Given the description of an element on the screen output the (x, y) to click on. 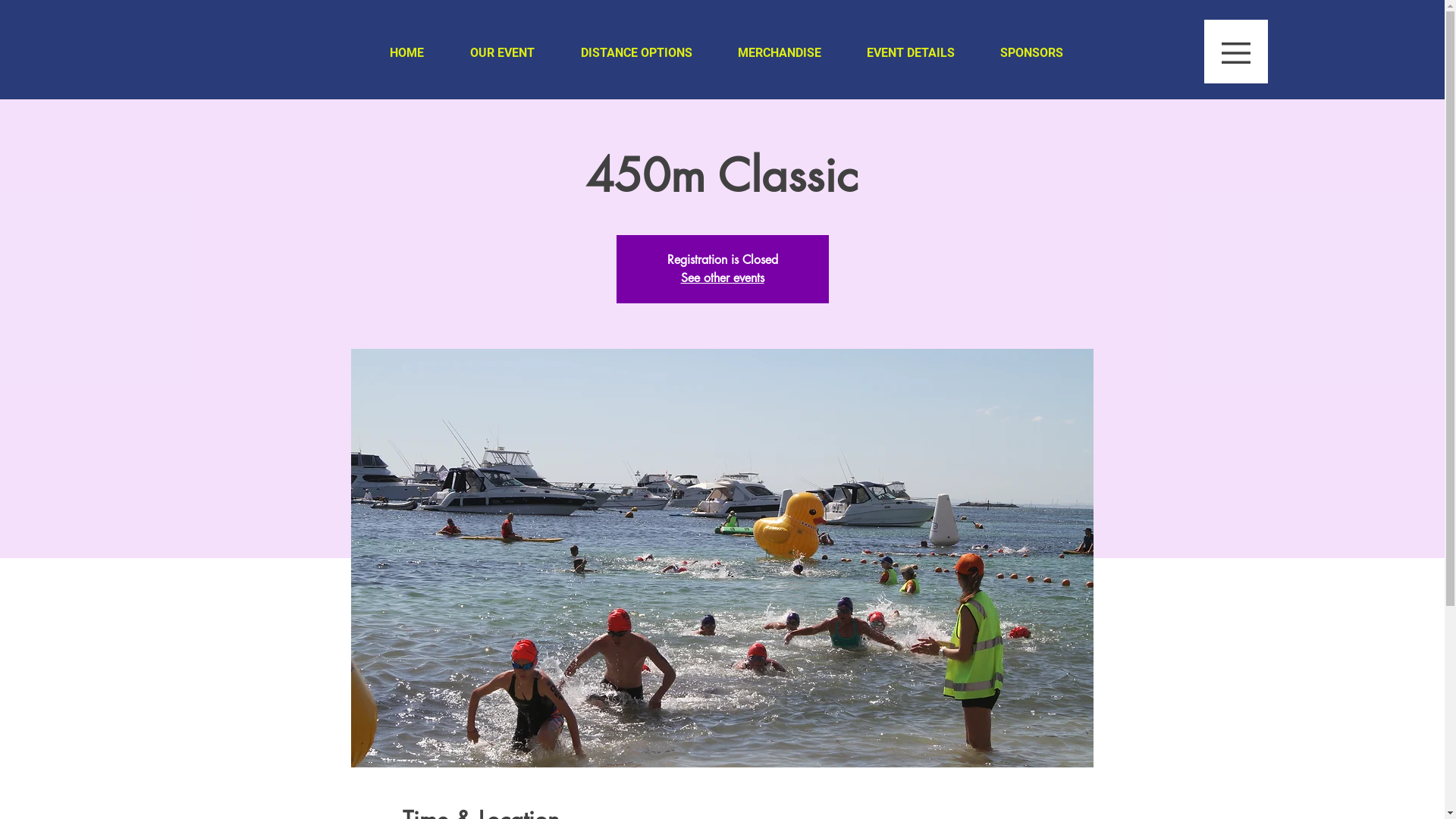
SPONSORS Element type: text (1030, 52)
DISTANCE OPTIONS Element type: text (636, 52)
MERCHANDISE Element type: text (778, 52)
OUR EVENT Element type: text (502, 52)
HOME Element type: text (407, 52)
See other events Element type: text (722, 277)
EVENT DETAILS Element type: text (909, 52)
